Given the description of an element on the screen output the (x, y) to click on. 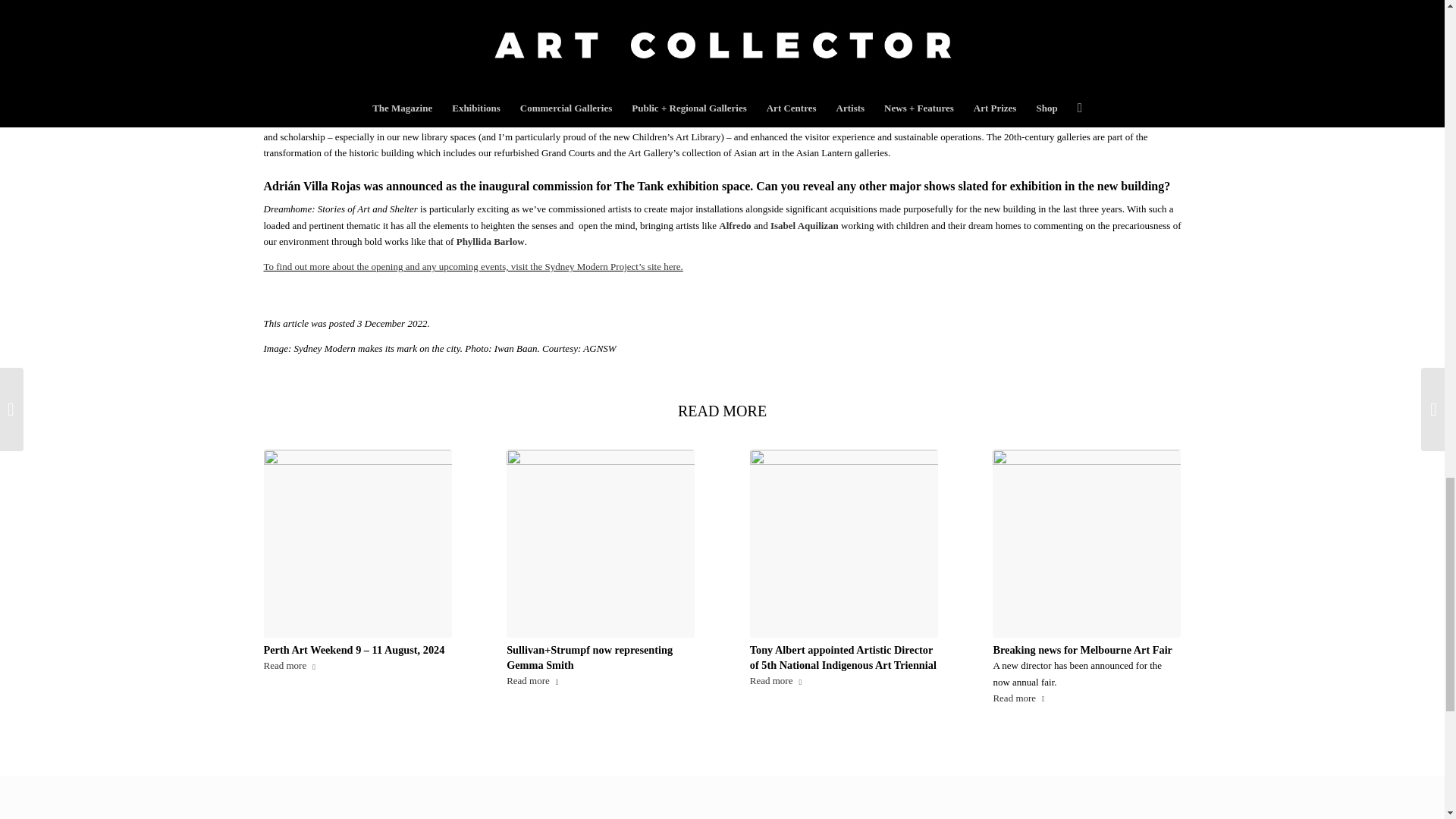
Breaking news for Melbourne Art Fair (1082, 649)
Read more (292, 665)
Breaking news for Melbourne Art Fair (1086, 543)
Read more (1020, 698)
Breaking news for Melbourne Art Fair (1082, 649)
Read more (778, 681)
Read more (535, 681)
